Given the description of an element on the screen output the (x, y) to click on. 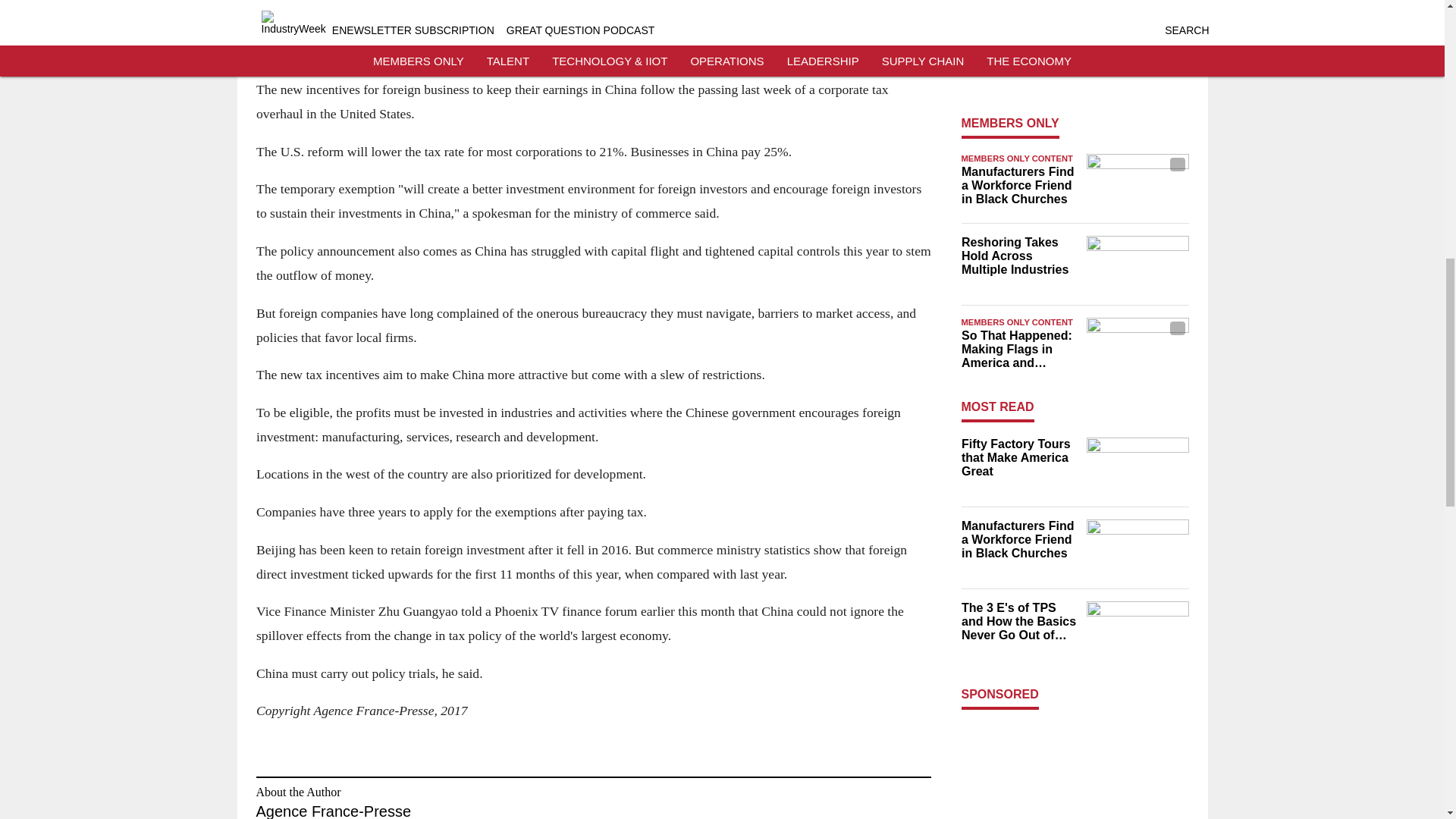
Reshoring Takes Hold Across Multiple Industries (1019, 255)
MEMBERS ONLY (1009, 123)
The 3 E's of TPS and How the Basics Never Go Out of Style (1019, 54)
Manufacturers Find a Workforce Friend in Black Churches (1019, 185)
Fifty Factory Tours that Make America Great (1019, 457)
